Given the description of an element on the screen output the (x, y) to click on. 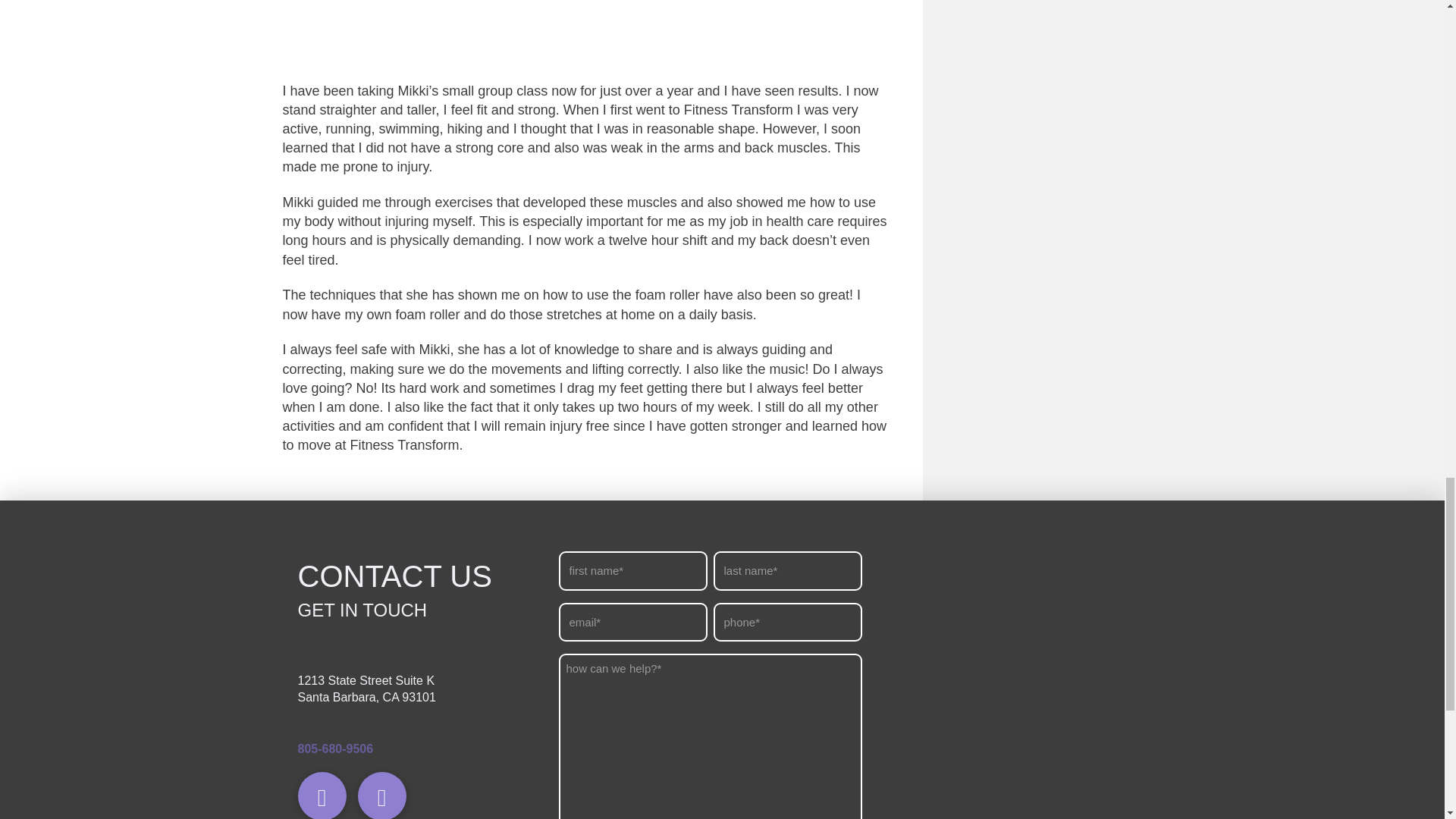
805-680-9506 (334, 748)
